Given the description of an element on the screen output the (x, y) to click on. 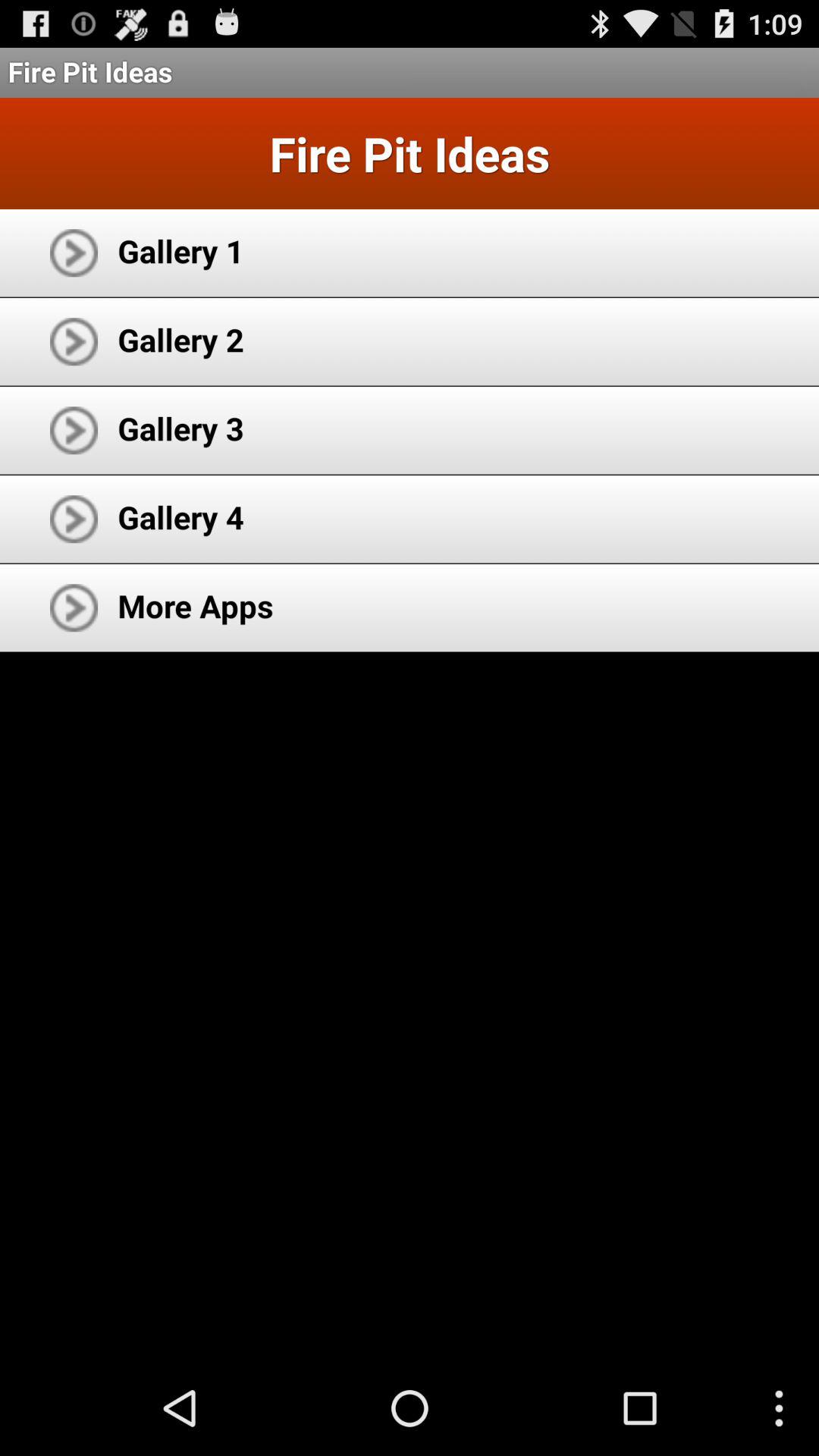
click icon below the gallery 4 icon (195, 605)
